Given the description of an element on the screen output the (x, y) to click on. 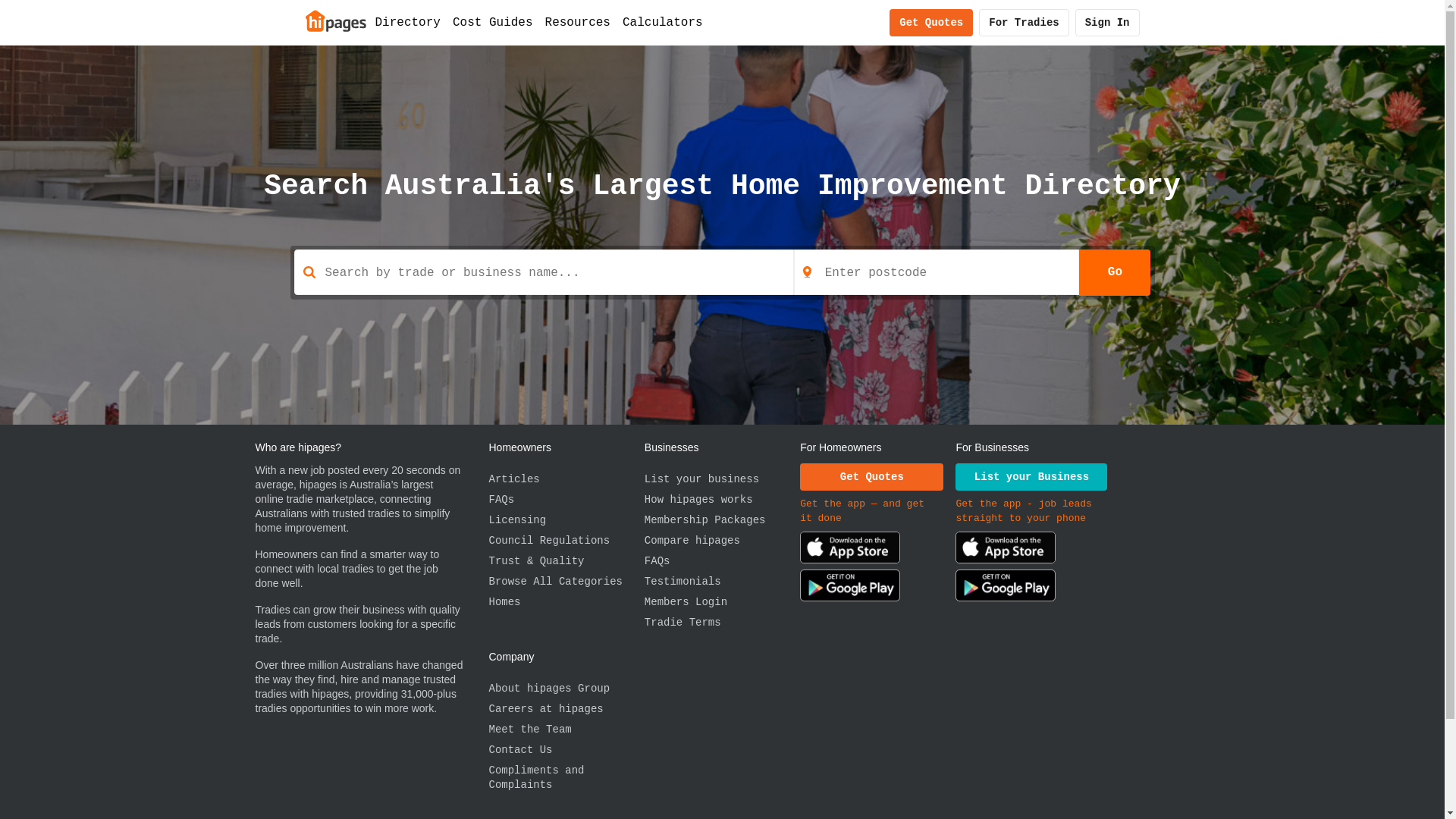
Sign In Element type: text (1107, 22)
Licensing Element type: text (565, 520)
Browse All Categories Element type: text (565, 581)
Tradie Terms Element type: text (722, 622)
Homes Element type: text (565, 602)
Careers at hipages Element type: text (565, 709)
How hipages works Element type: text (722, 499)
FAQs Element type: text (722, 561)
Members Login Element type: text (722, 602)
List your Business Element type: text (1031, 476)
FAQs Element type: text (565, 499)
Download the hipages app on the App Store Element type: hover (850, 550)
Meet the Team Element type: text (565, 729)
Go Element type: text (1114, 271)
Council Regulations Element type: text (565, 540)
Get Quotes Element type: text (871, 476)
Resources Element type: text (577, 22)
Testimonials Element type: text (722, 581)
Cost Guides Element type: text (492, 22)
Calculators Element type: text (662, 22)
Trust & Quality Element type: text (565, 561)
Compare hipages Element type: text (722, 540)
Articles Element type: text (565, 479)
Contact Us Element type: text (565, 750)
About hipages Group Element type: text (565, 688)
List your business Element type: text (722, 479)
Compliments and Complaints Element type: text (565, 777)
Directory Element type: text (406, 22)
For Tradies Element type: text (1023, 22)
Home Element type: hover (334, 20)
Membership Packages Element type: text (722, 520)
Download the hipages app on the App Store Element type: hover (1005, 550)
Download the hipages app on Google Play Element type: hover (1005, 588)
Download the hipages app on Google Play Element type: hover (850, 588)
Get Quotes Element type: text (930, 22)
